Given the description of an element on the screen output the (x, y) to click on. 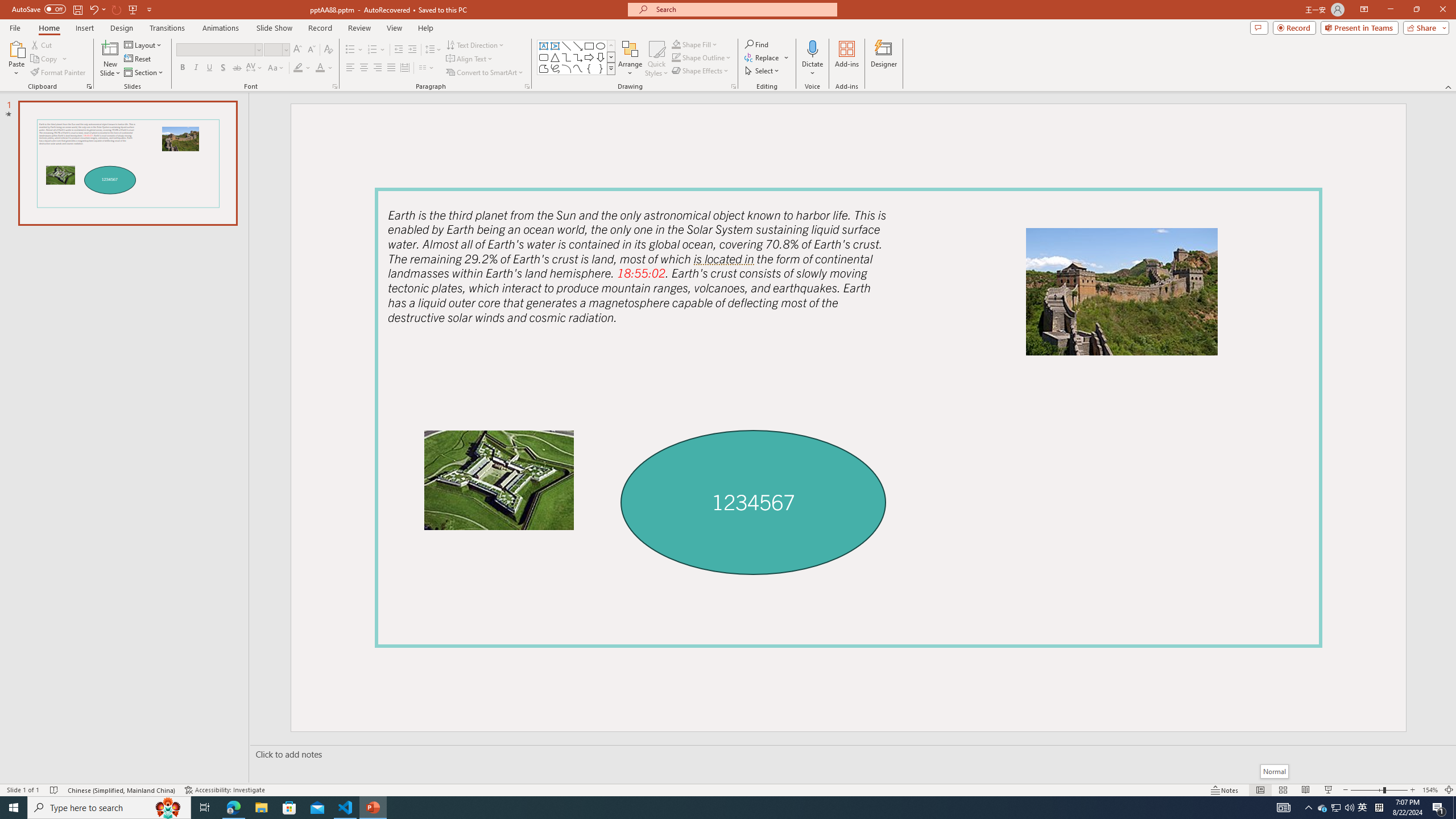
Convert to SmartArt (485, 72)
Layout (143, 44)
Shape Effects (700, 69)
Arrange (630, 58)
Bold (182, 67)
Connector: Elbow (566, 57)
Cut (42, 44)
Shape Outline Teal, Accent 1 (675, 56)
Connector: Elbow Arrow (577, 57)
